Given the description of an element on the screen output the (x, y) to click on. 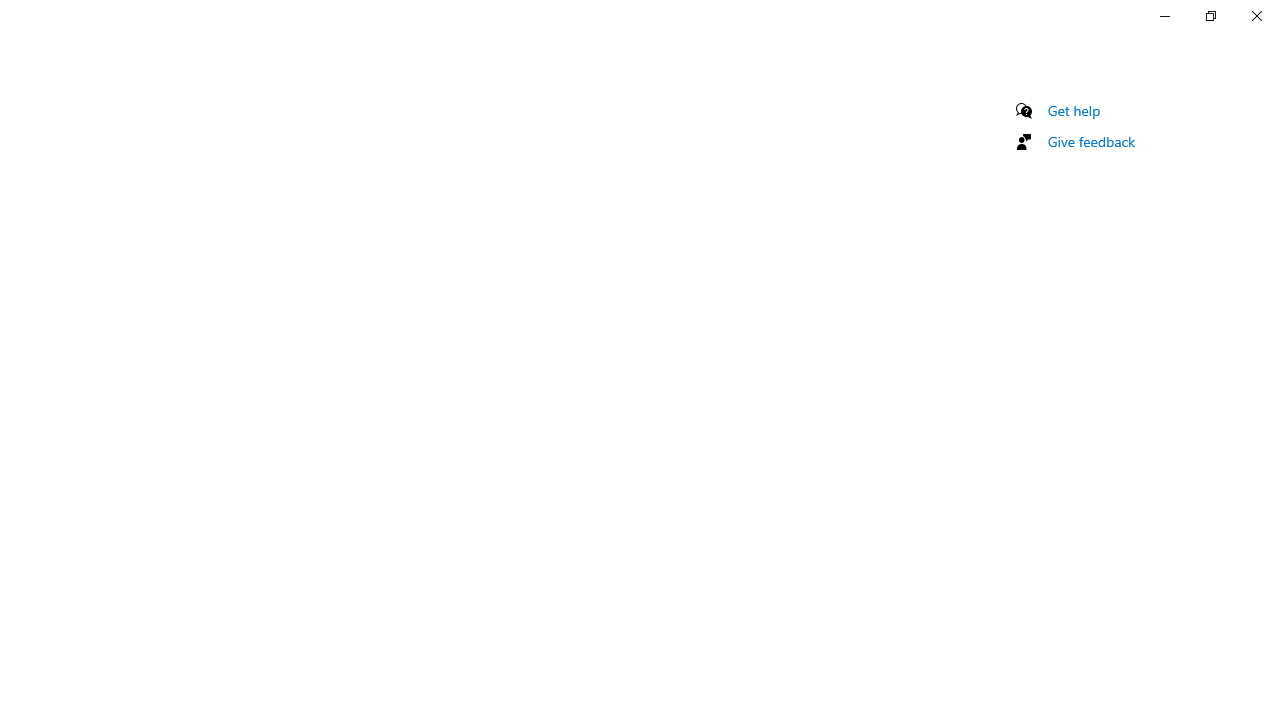
Give feedback (1091, 141)
Get help (1074, 110)
